Given the description of an element on the screen output the (x, y) to click on. 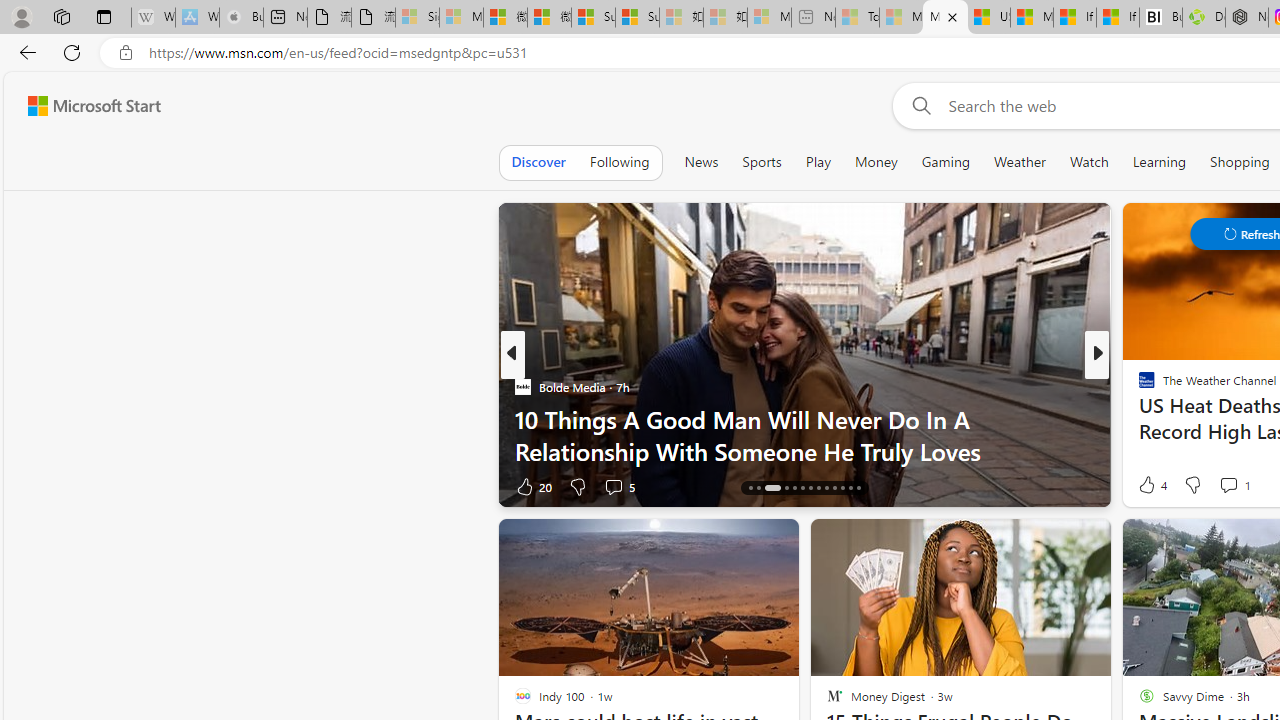
Marine life - MSN - Sleeping (900, 17)
View comments 53 Comment (1244, 486)
Gaming (945, 162)
Groovy Era (1138, 418)
BBC (1138, 386)
View comments 35 Comment (1244, 486)
View comments 5 Comment (613, 485)
123 Like (1151, 486)
View comments 11 Comment (1234, 485)
Top Stories - MSN - Sleeping (857, 17)
View comments 1k Comment (1228, 485)
